Given the description of an element on the screen output the (x, y) to click on. 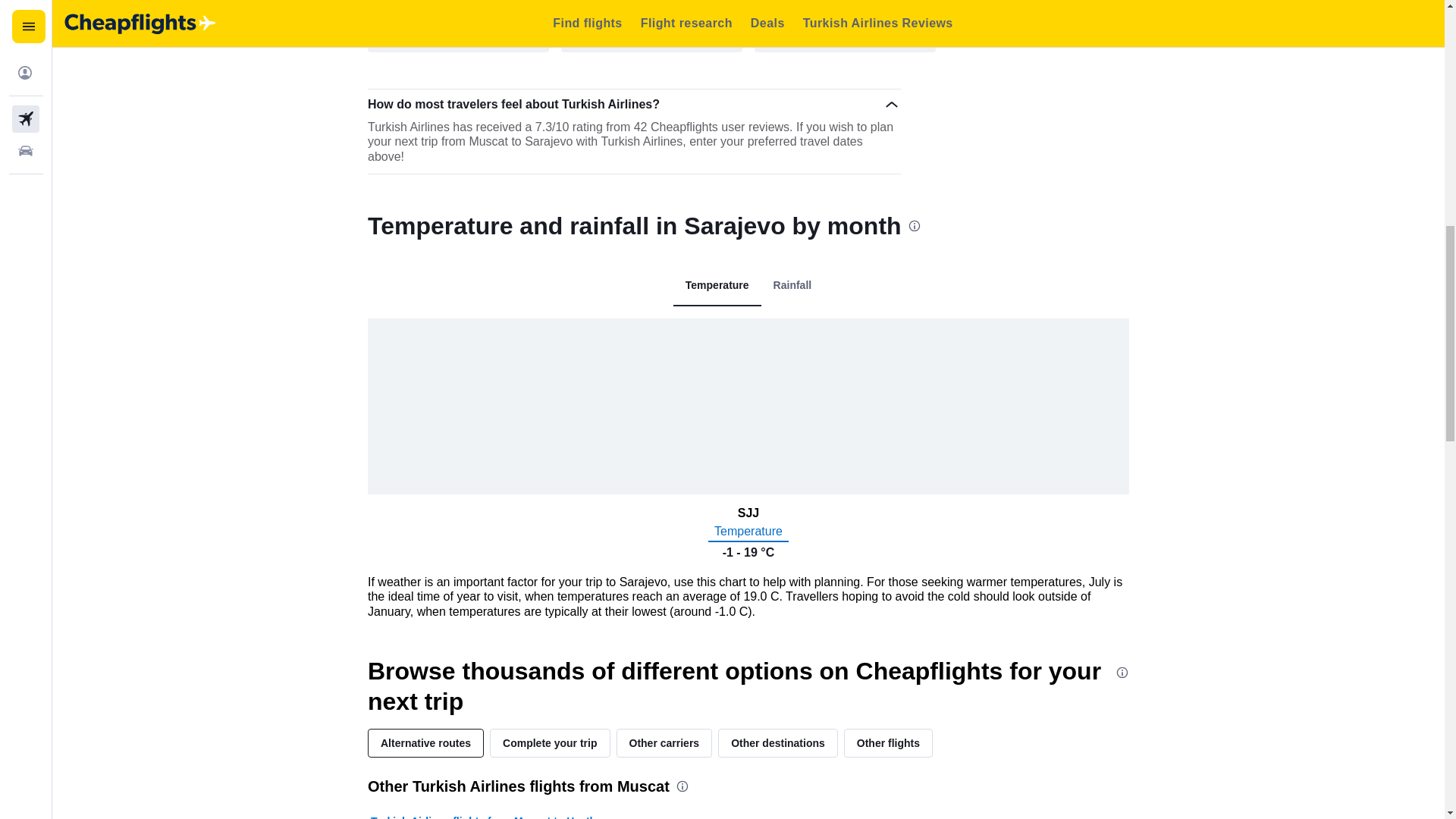
Complete your trip (549, 742)
Search Deals (457, 29)
Turkish Airlines flights from Muscat to Heathrow (492, 816)
Rainfall (792, 285)
Other flights (888, 742)
Search Deals (844, 29)
Other carriers (664, 742)
Search Deals (651, 29)
Alternative routes (425, 742)
Other destinations (777, 742)
